Given the description of an element on the screen output the (x, y) to click on. 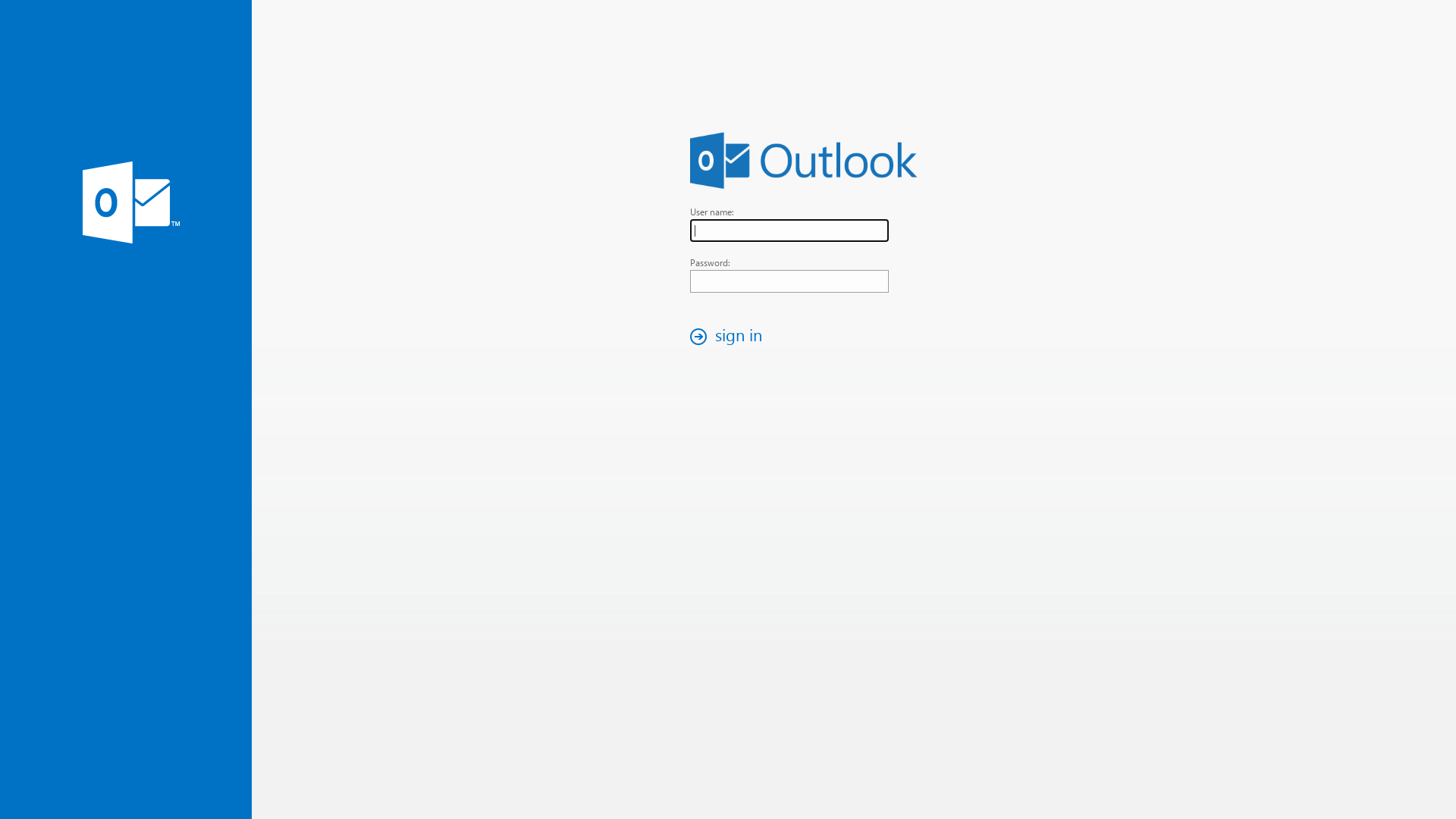
sign in Element type: text (730, 336)
